Given the description of an element on the screen output the (x, y) to click on. 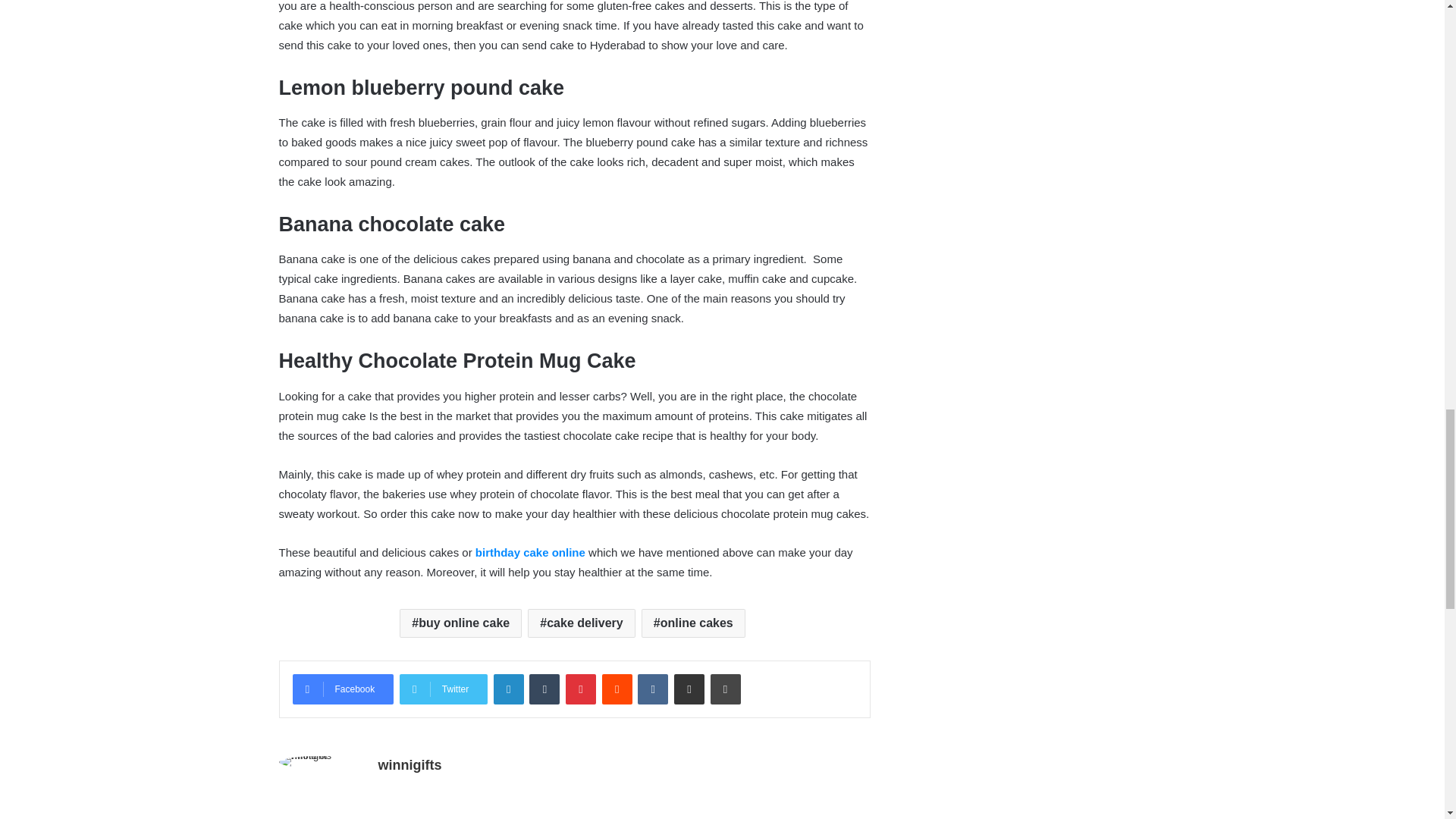
winnigifts (409, 765)
Facebook (343, 689)
Twitter (442, 689)
LinkedIn (508, 689)
Pinterest (580, 689)
Pinterest (580, 689)
Print (725, 689)
birthday cake online (528, 552)
Share via Email (689, 689)
Reddit (616, 689)
